Given the description of an element on the screen output the (x, y) to click on. 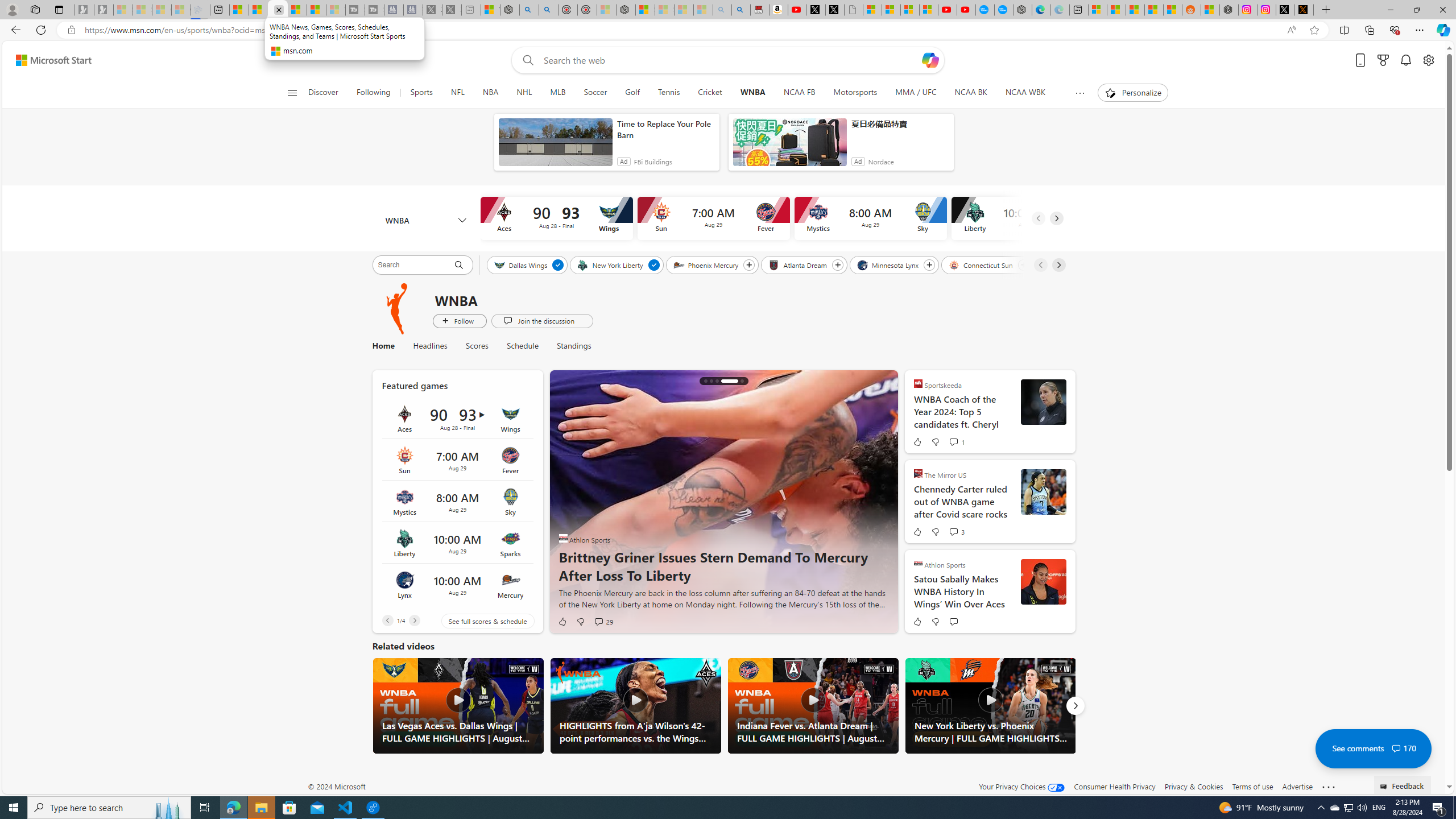
View comments 1 Comment (956, 441)
The most popular Google 'how to' searches (1003, 9)
Advertise (1297, 786)
Cricket (709, 92)
Skip to content (49, 59)
Nordace - Nordace Siena Is Not An Ordinary Backpack (625, 9)
Privacy & Cookies (1193, 786)
Privacy & Cookies (1193, 785)
Minnesota Lynx (888, 264)
Scores (476, 345)
Time to Replace Your Pole Barn (664, 128)
